Given the description of an element on the screen output the (x, y) to click on. 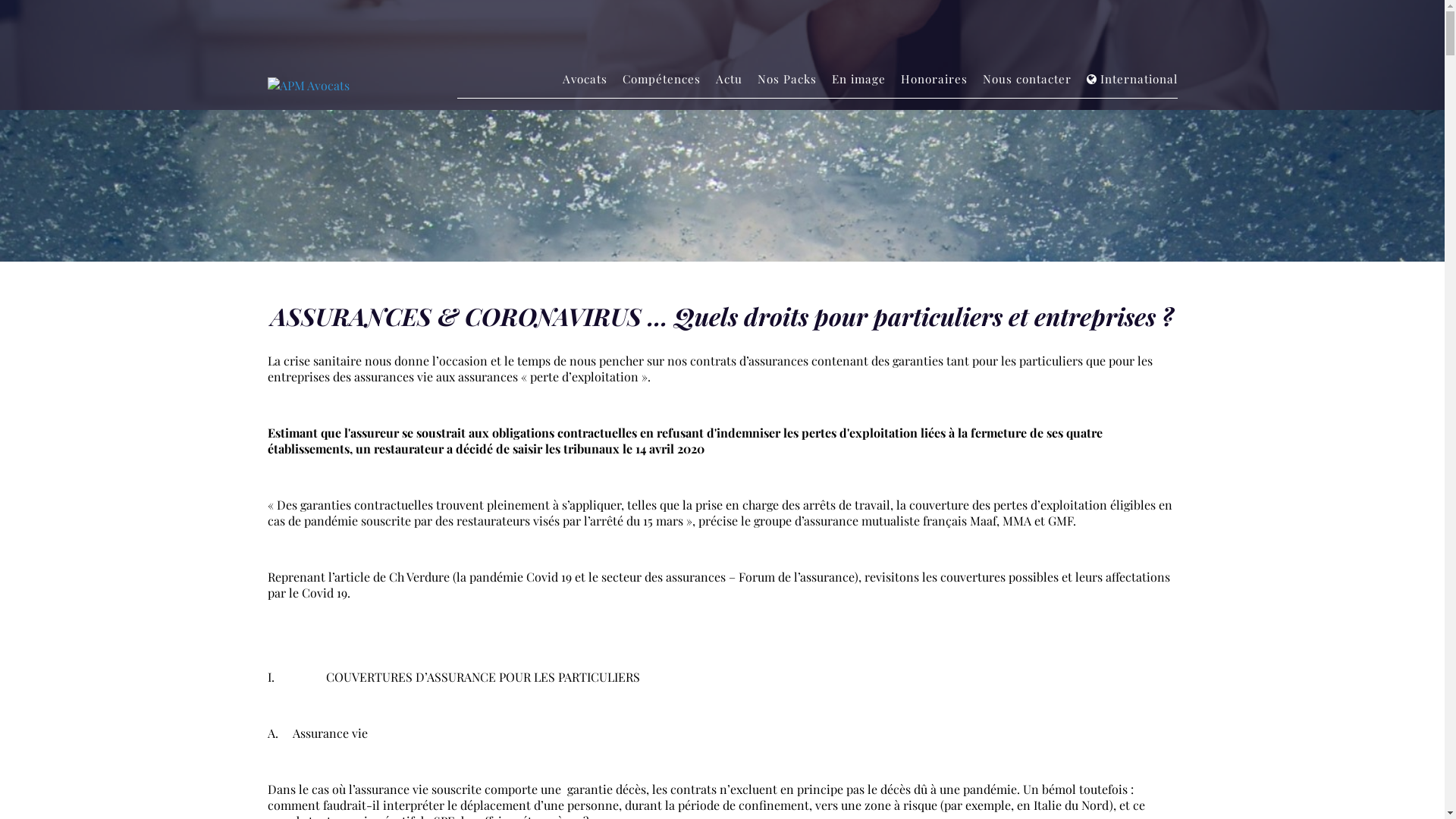
Actu Element type: text (728, 78)
Avocats Element type: text (584, 78)
Nous contacter Element type: text (1026, 78)
En image Element type: text (857, 78)
Nos Packs Element type: text (785, 78)
International Element type: text (1137, 78)
Honoraires Element type: text (933, 78)
